Given the description of an element on the screen output the (x, y) to click on. 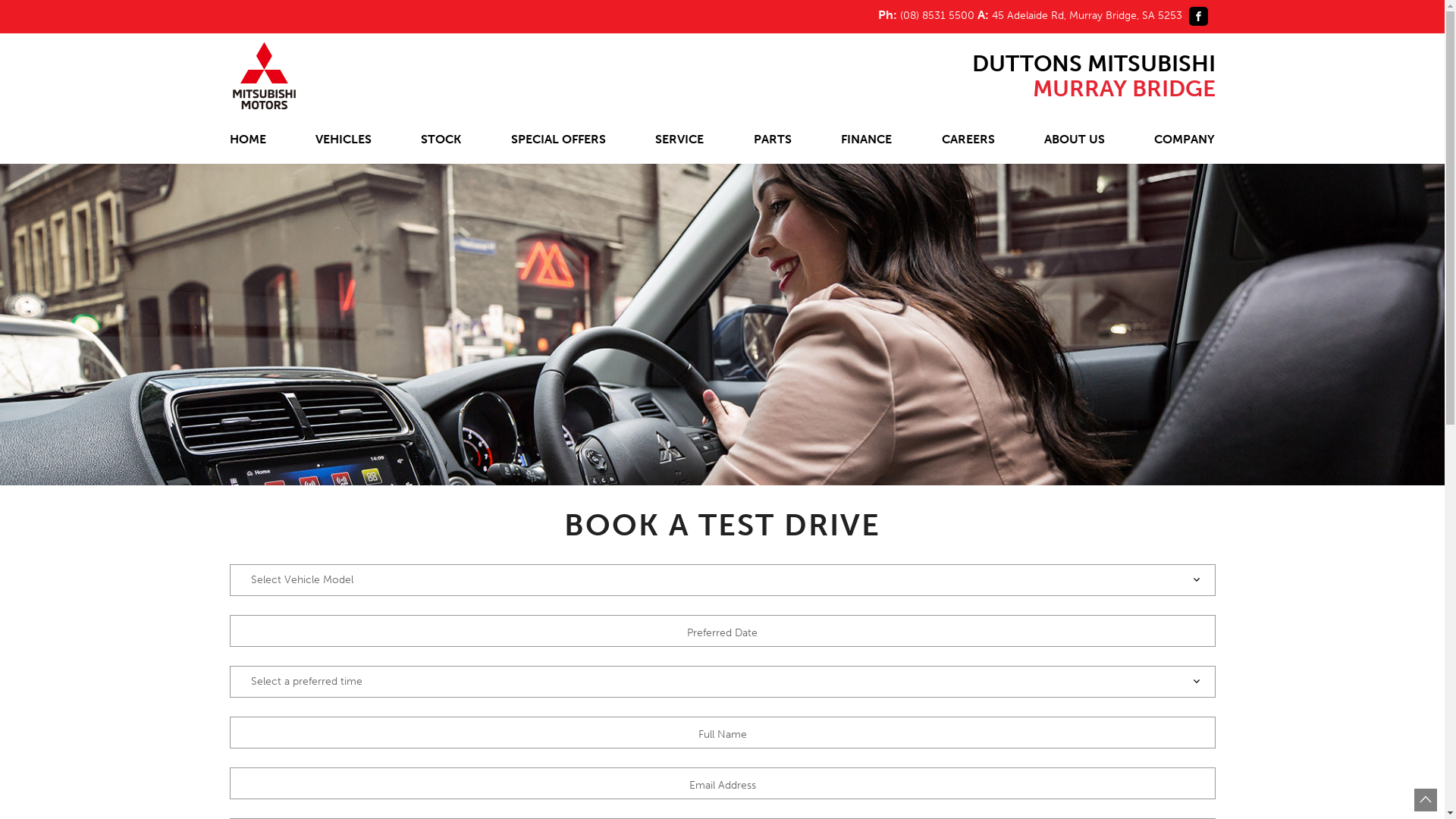
STOCK Element type: text (440, 140)
45 Adelaide Rd, Murray Bridge, SA 5253 Element type: text (1088, 15)
CAREERS Element type: text (967, 140)
(08) 8531 5500 Element type: text (936, 15)
FINANCE Element type: text (865, 140)
PARTS Element type: text (772, 140)
SERVICE Element type: text (679, 140)
COMPANY Element type: text (1184, 140)
VEHICLES Element type: text (343, 140)
HOME Element type: text (247, 140)
SPECIAL OFFERS Element type: text (558, 140)
ABOUT US Element type: text (1074, 140)
